Given the description of an element on the screen output the (x, y) to click on. 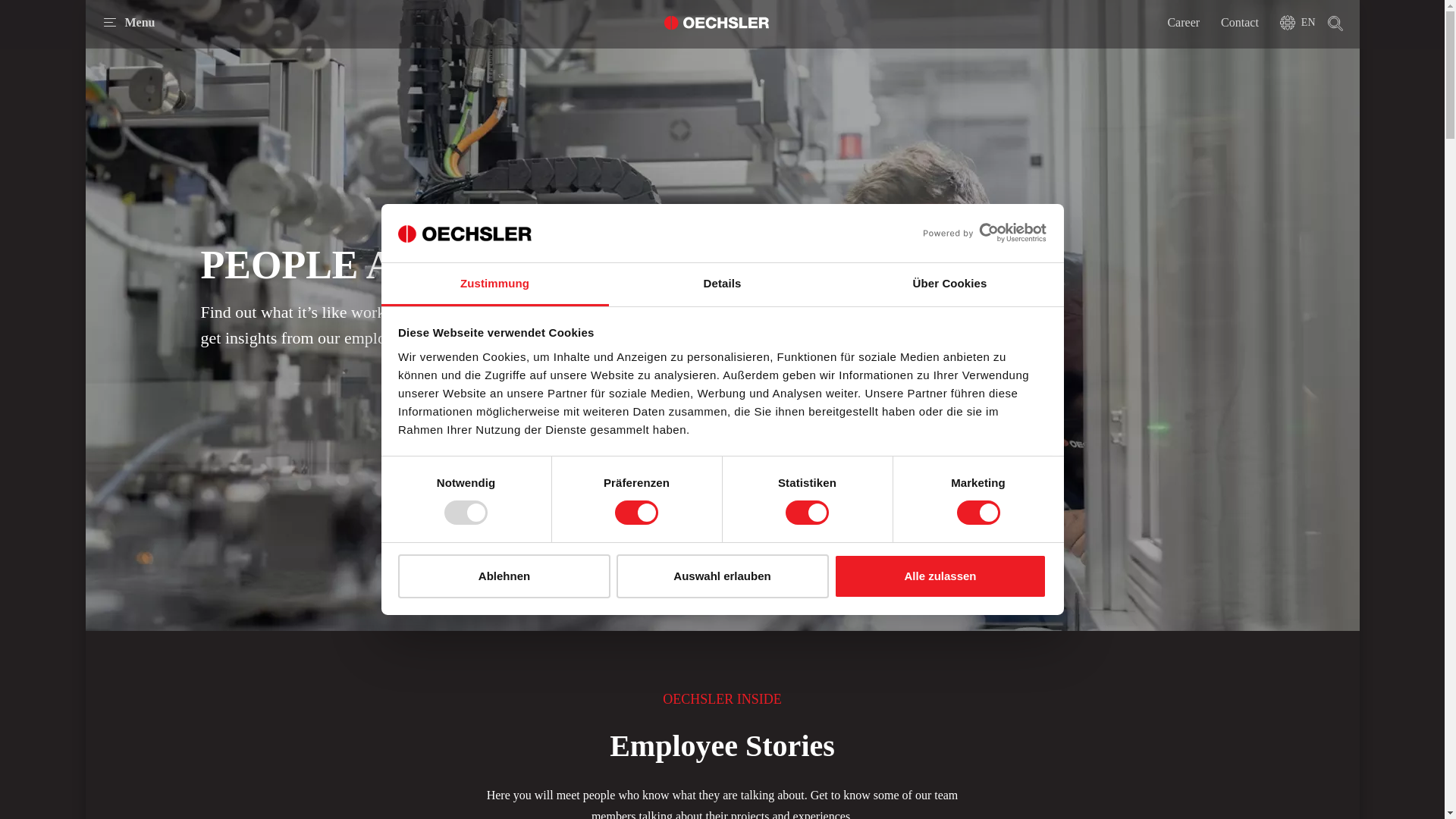
Zustimmung (494, 284)
Details (721, 284)
